Given the description of an element on the screen output the (x, y) to click on. 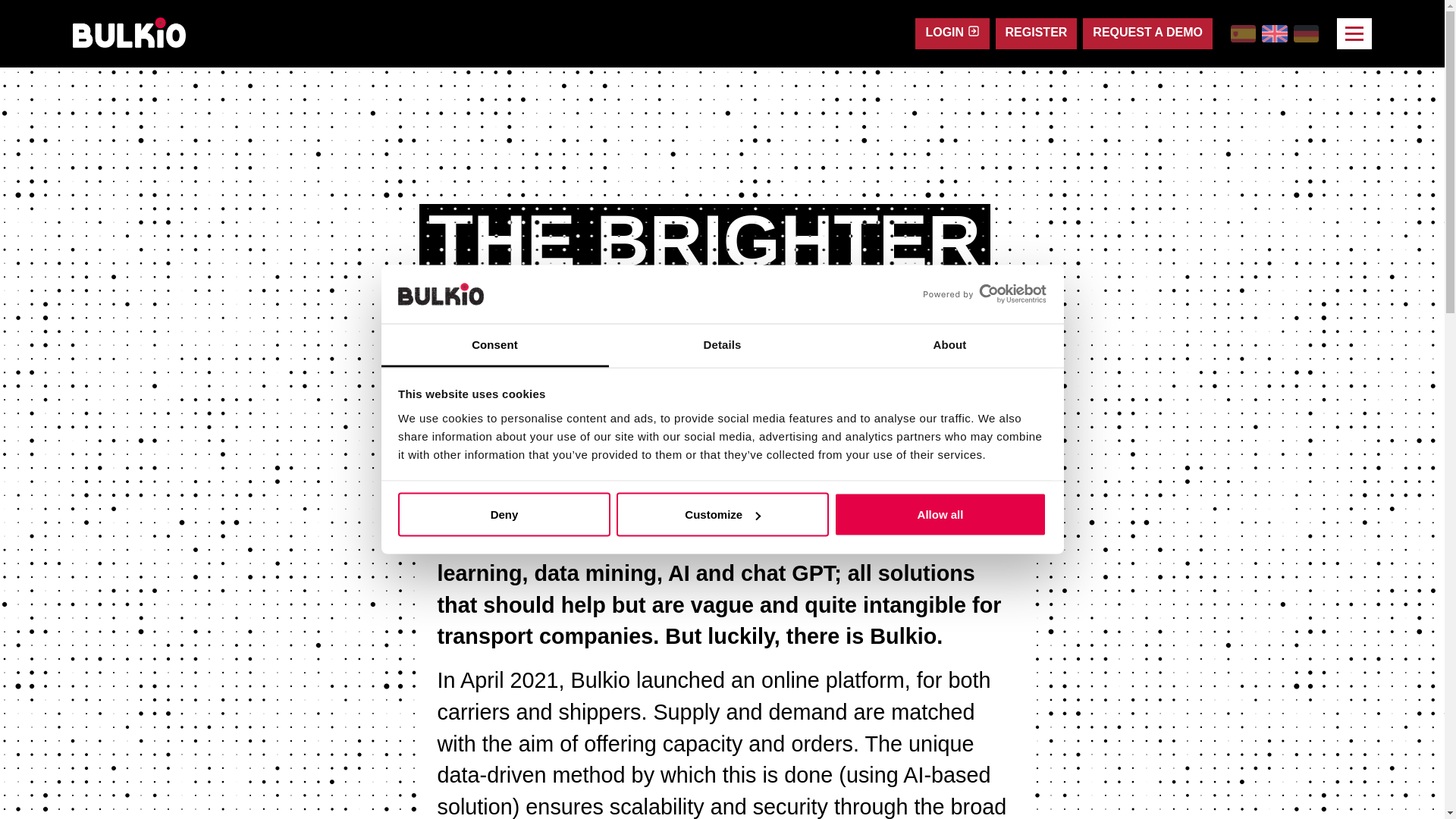
Details (721, 344)
Chat Widget (37, 782)
Consent (494, 344)
About (948, 344)
